Given the description of an element on the screen output the (x, y) to click on. 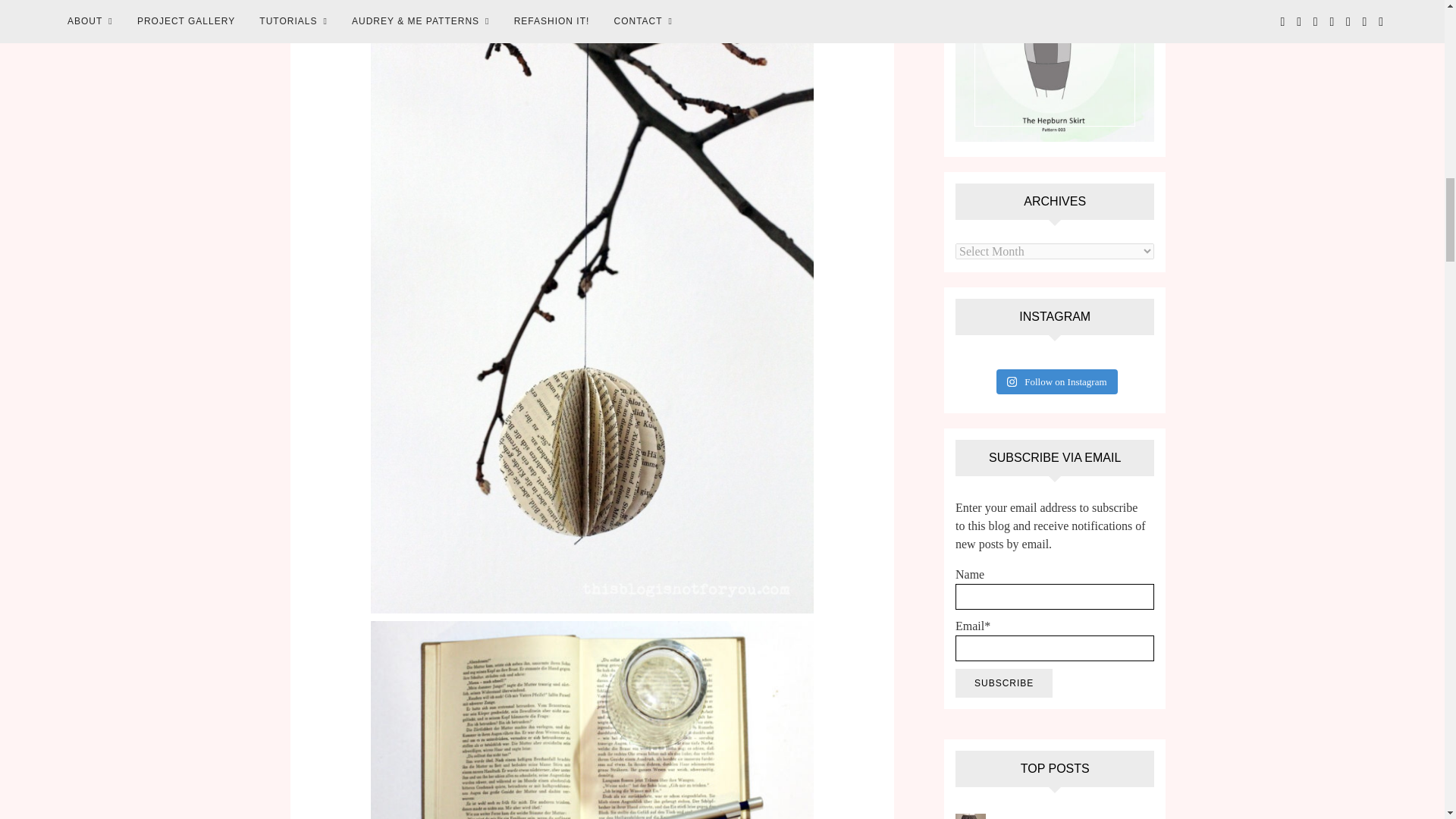
Subscribe (1003, 683)
